Given the description of an element on the screen output the (x, y) to click on. 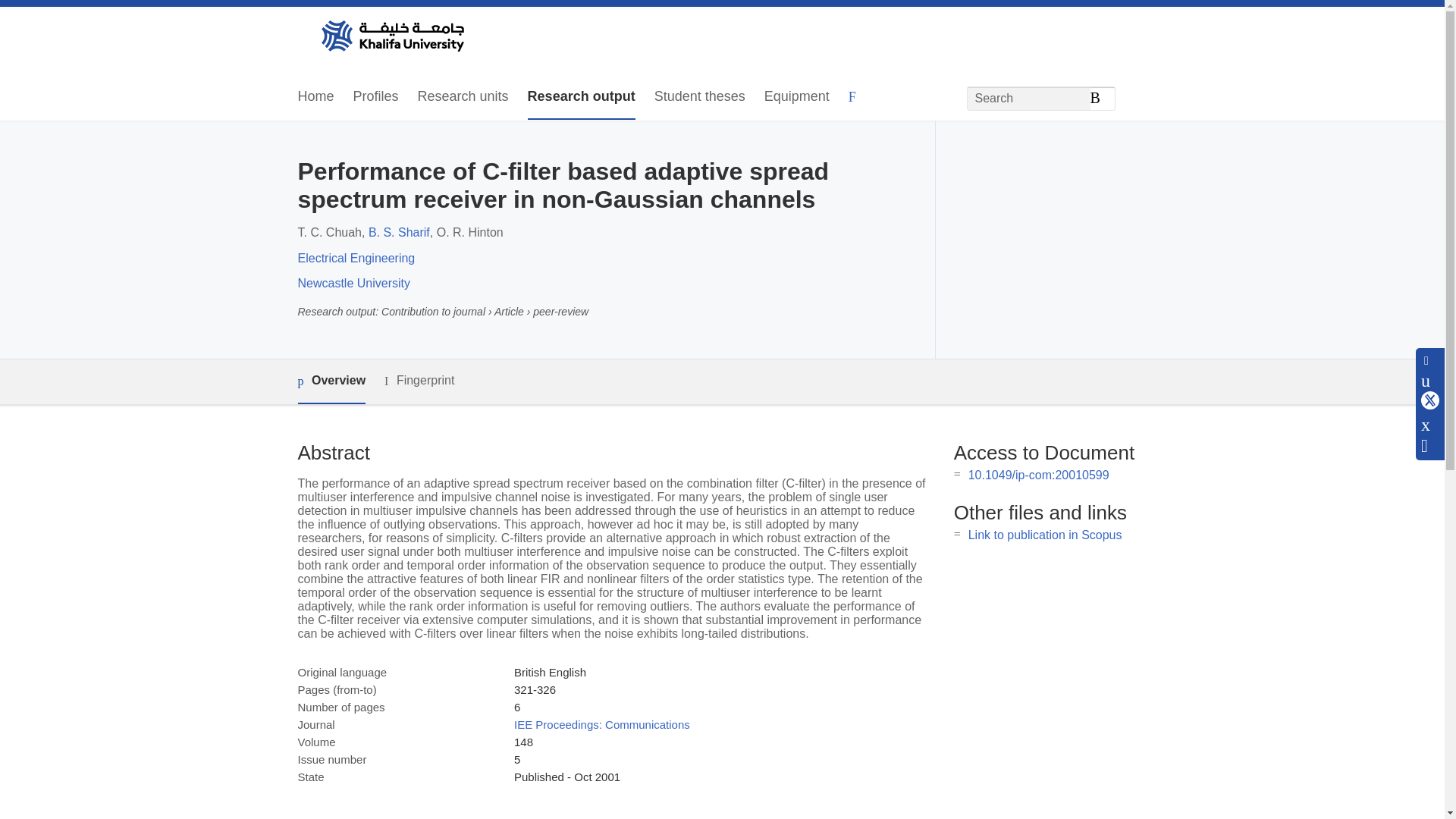
Fingerprint (419, 380)
IEE Proceedings: Communications (601, 724)
Equipment (796, 97)
Newcastle University (353, 282)
Student theses (699, 97)
Link to publication in Scopus (1045, 534)
Overview (331, 381)
Khalifa University Home (391, 37)
B. S. Sharif (398, 232)
Research output (580, 97)
Electrical Engineering (355, 257)
Home (315, 97)
Profiles (375, 97)
Research units (462, 97)
